Given the description of an element on the screen output the (x, y) to click on. 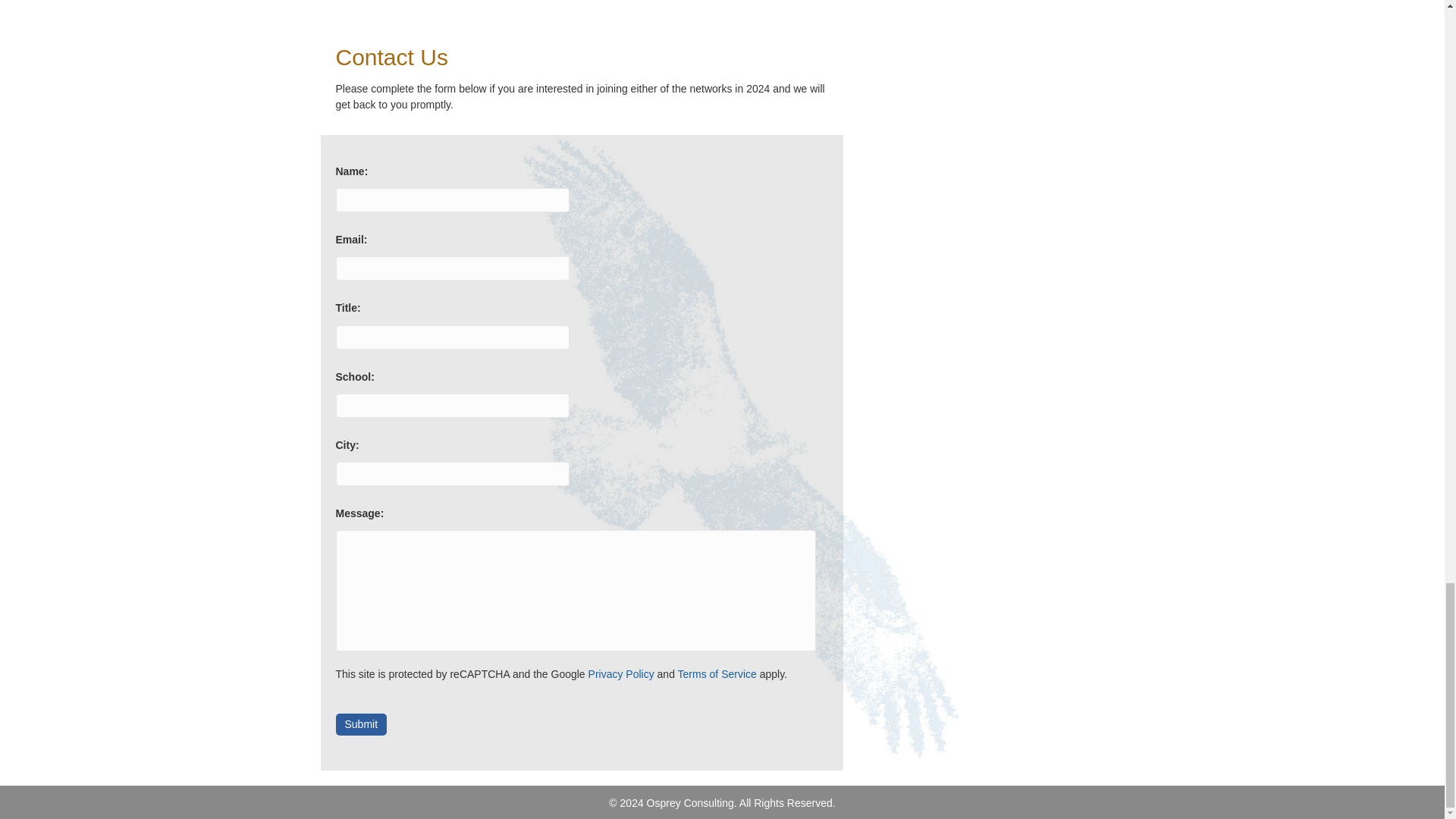
Submit (360, 724)
Privacy Policy (620, 674)
Submit (360, 724)
Terms of Service (717, 674)
